Given the description of an element on the screen output the (x, y) to click on. 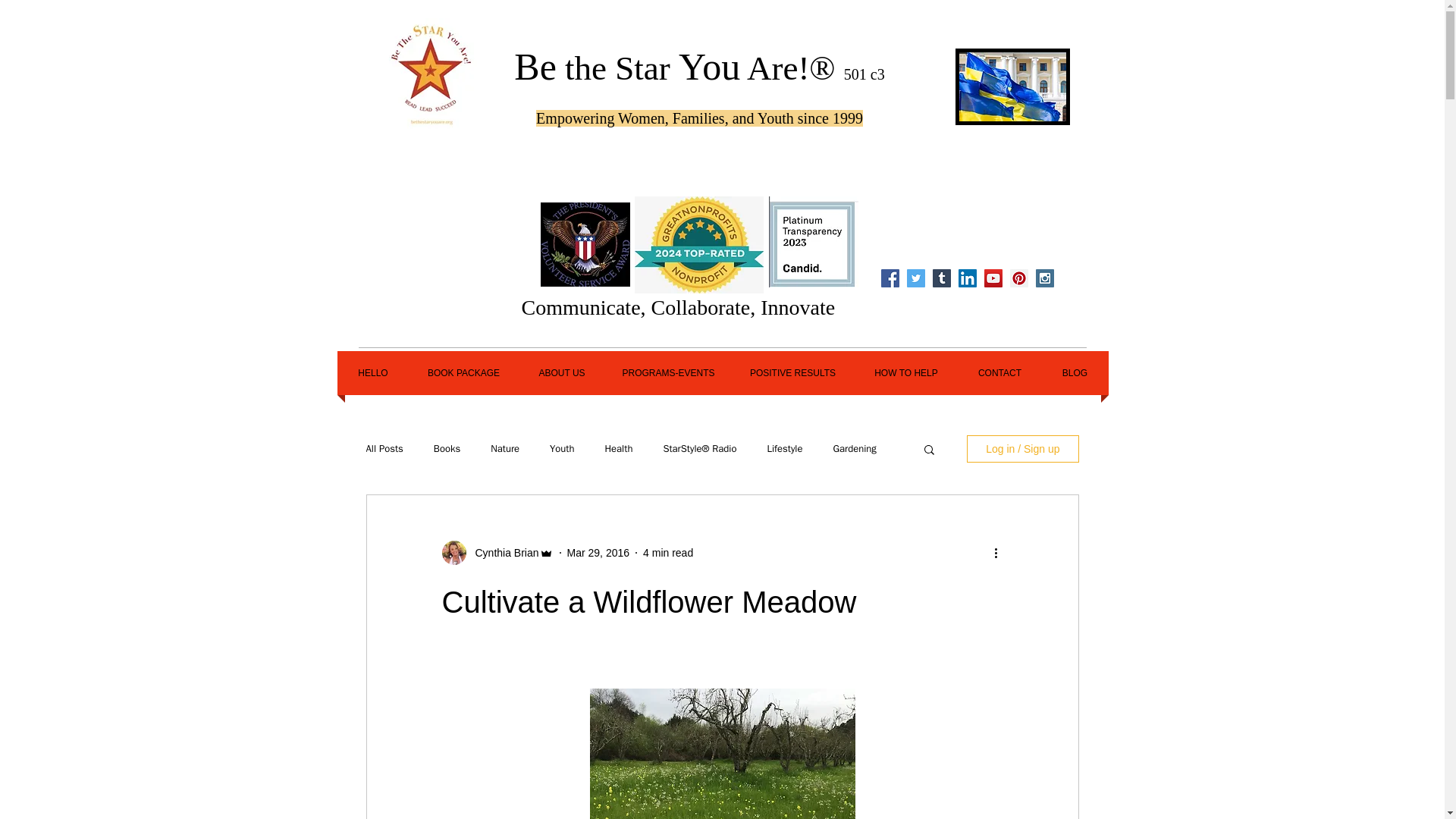
Mar 29, 2016 (598, 551)
PROGRAMS-EVENTS (667, 372)
CONTACT (1000, 372)
ABOUT US (561, 372)
HOW TO HELP (905, 372)
Books (446, 448)
Nature (504, 448)
All Posts (384, 448)
HELLO (372, 372)
